Given the description of an element on the screen output the (x, y) to click on. 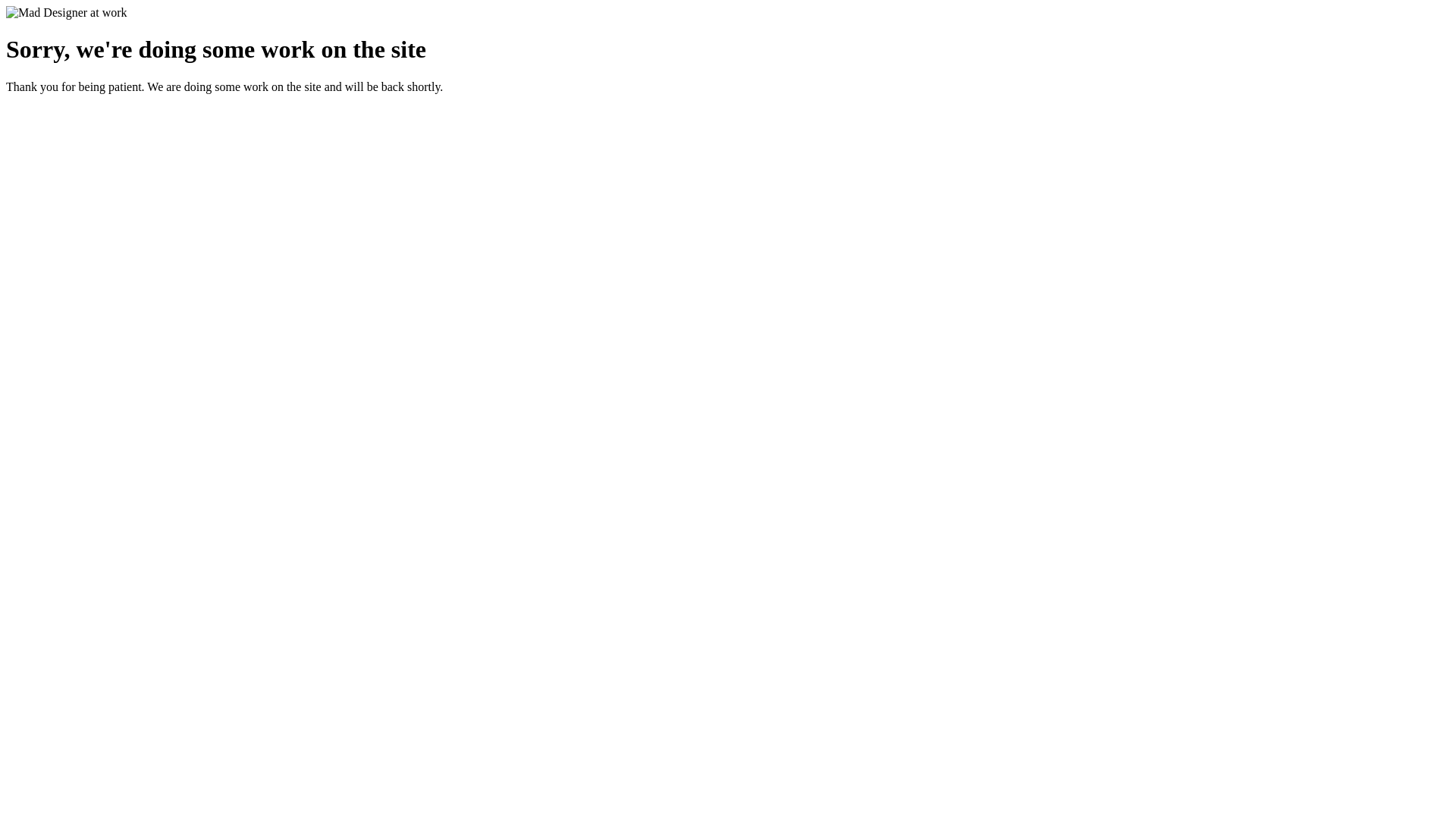
Mad Designer at work Element type: hover (66, 12)
